Given the description of an element on the screen output the (x, y) to click on. 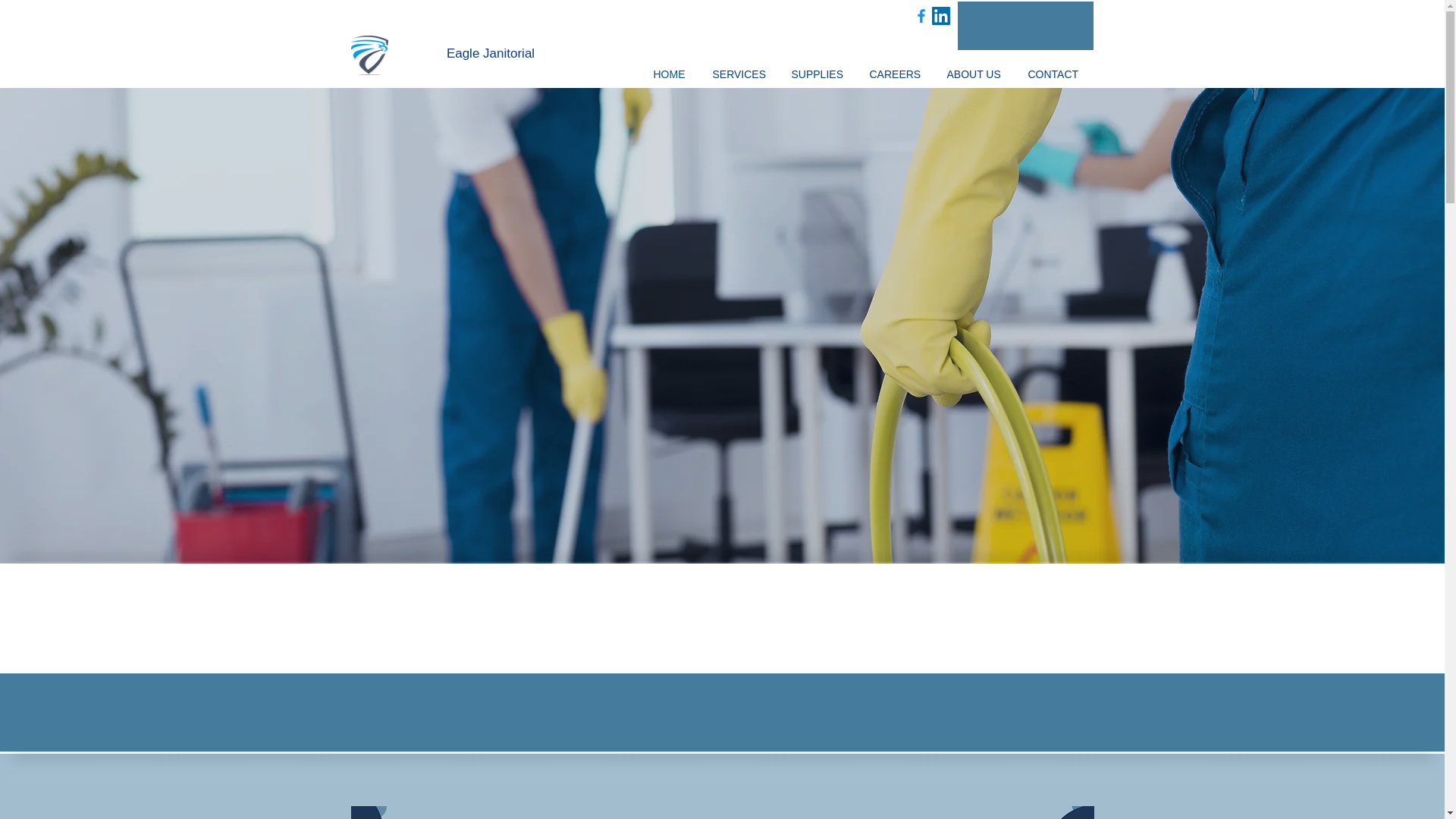
Eagle Janitorial (490, 54)
CAREERS (897, 73)
HOME (671, 73)
ABOUT US (976, 73)
CONTACT (1054, 73)
SUPPLIES (817, 73)
